Given the description of an element on the screen output the (x, y) to click on. 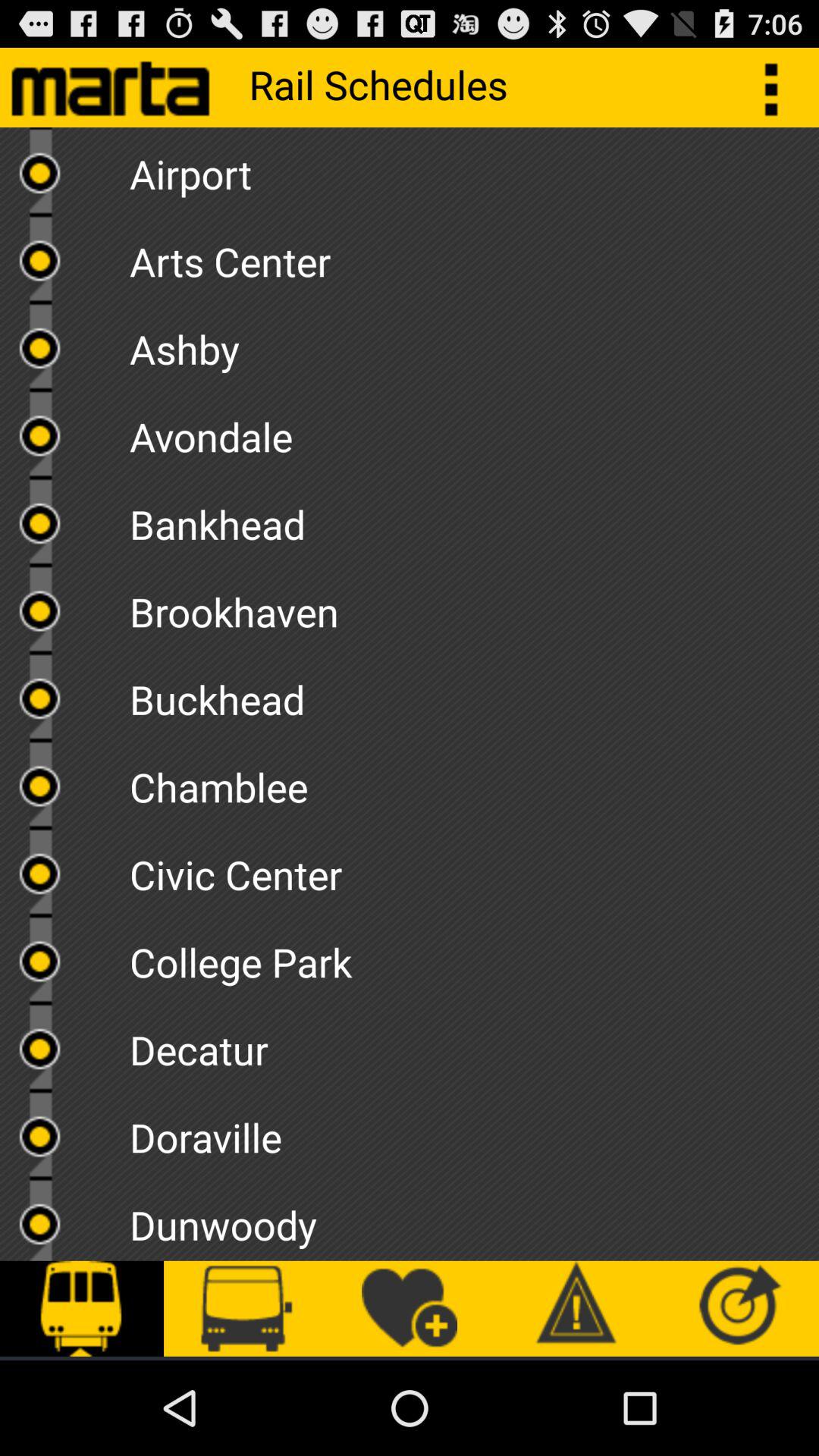
select the item above the civic center item (474, 781)
